Given the description of an element on the screen output the (x, y) to click on. 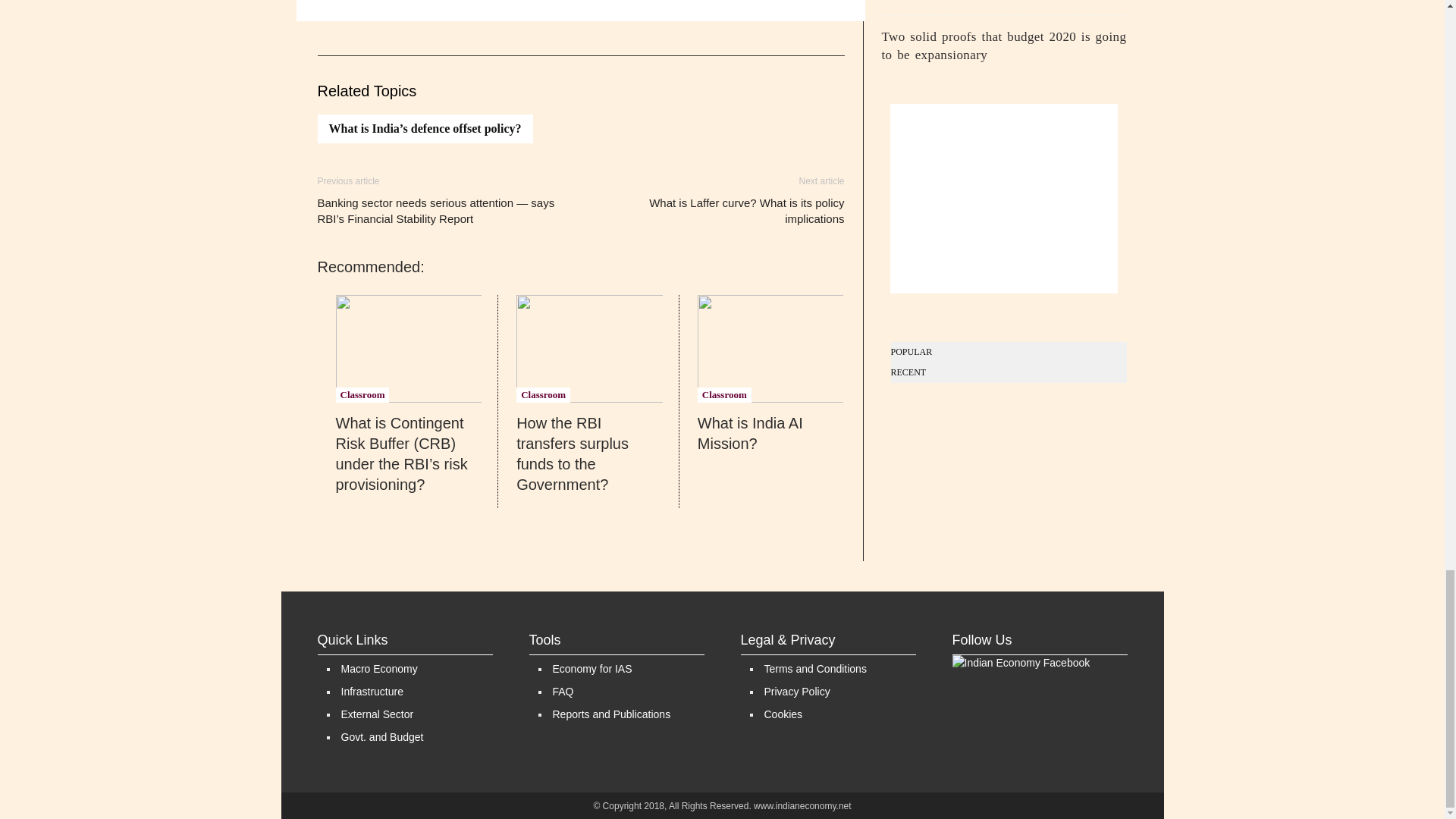
How the RBI transfers surplus funds to the Government? (589, 348)
